Given the description of an element on the screen output the (x, y) to click on. 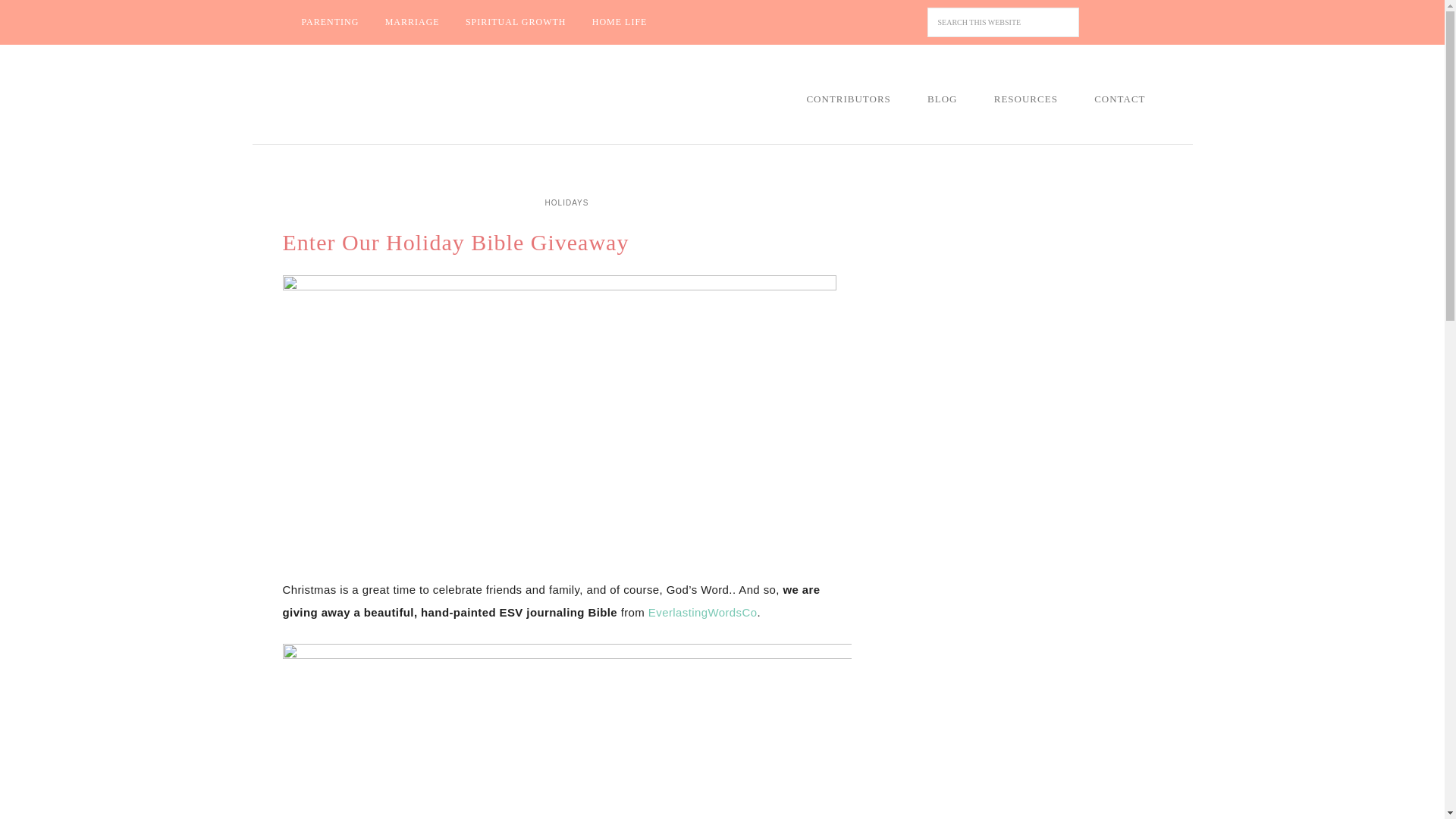
BLOG (942, 98)
RESOURCES (1025, 98)
MARRIAGE (412, 22)
SPIRITUAL GROWTH (516, 22)
HOLIDAYS (567, 202)
CHRISTIAN MOMMY (407, 95)
CONTRIBUTORS (848, 98)
EverlastingWordsCo (702, 612)
CONTACT (1119, 98)
HOME LIFE (619, 22)
PARENTING (329, 22)
